Given the description of an element on the screen output the (x, y) to click on. 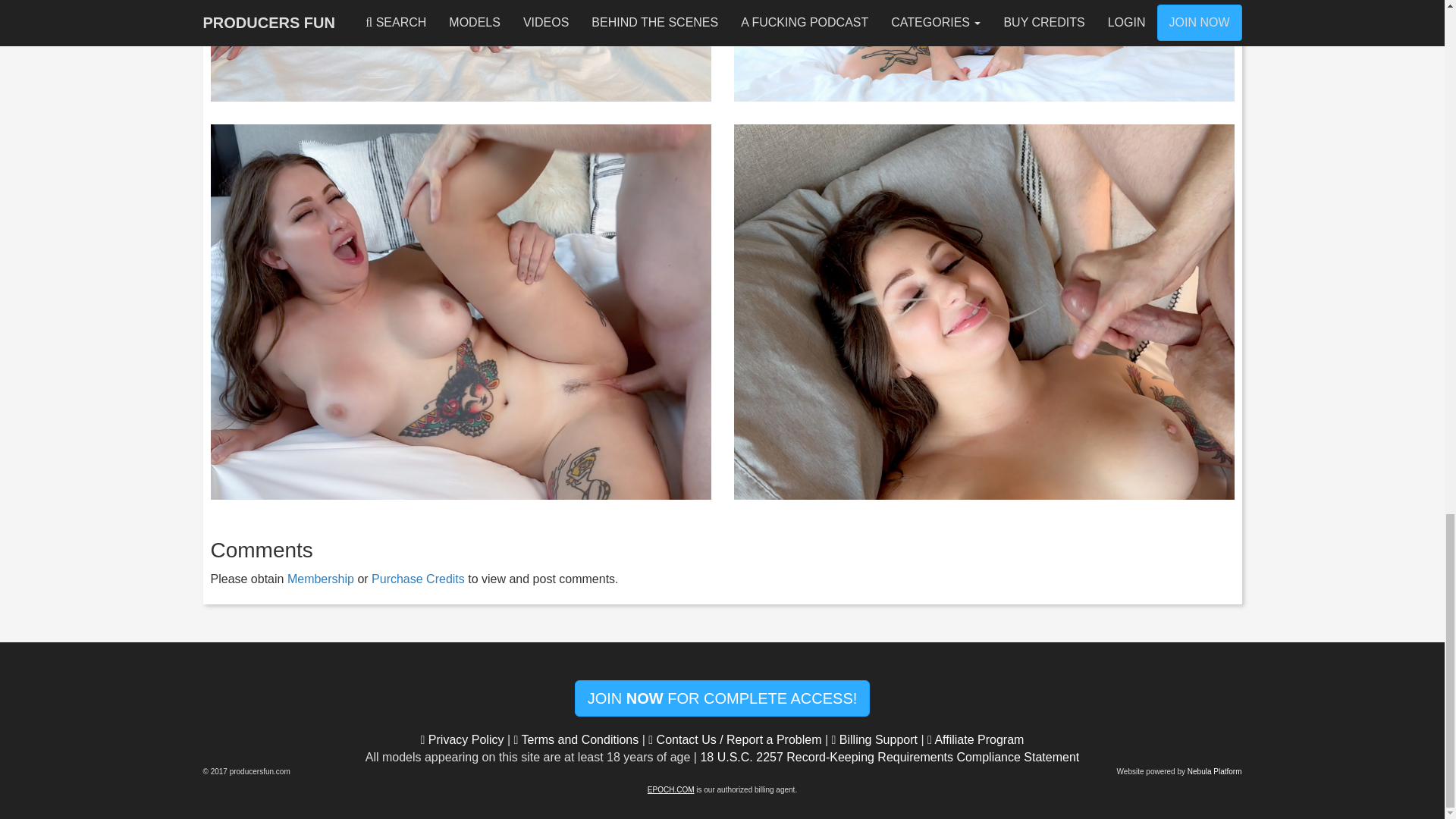
Purchase Credits (417, 578)
Membership (319, 578)
